Given the description of an element on the screen output the (x, y) to click on. 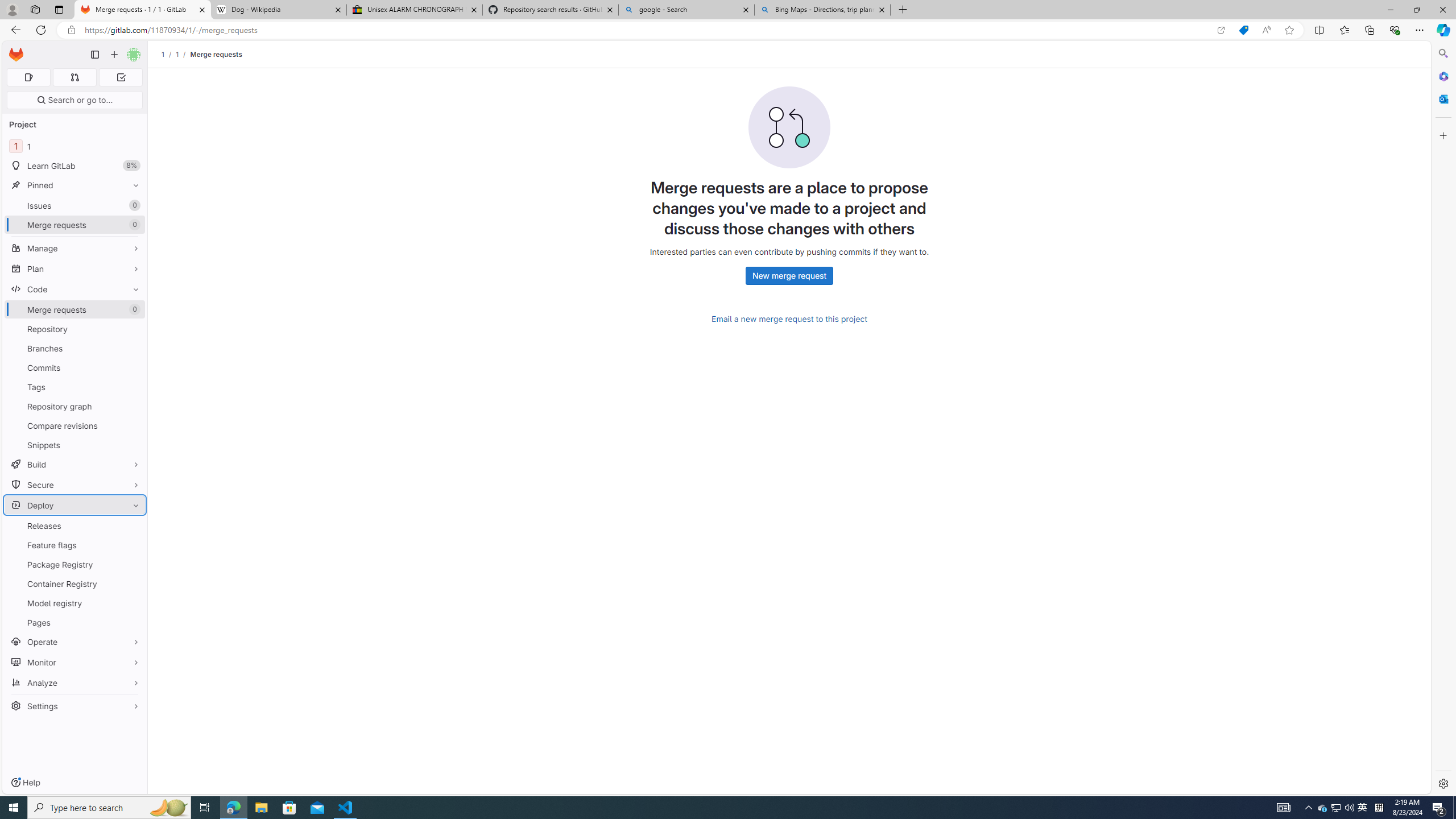
Issues 0 (74, 205)
Code (74, 289)
Manage (74, 248)
Pin Snippets (132, 445)
Tags (74, 386)
Pin Pages (132, 622)
Releases (74, 525)
Build (74, 464)
Pages (74, 622)
Package Registry (74, 564)
Monitor (74, 661)
